Given the description of an element on the screen output the (x, y) to click on. 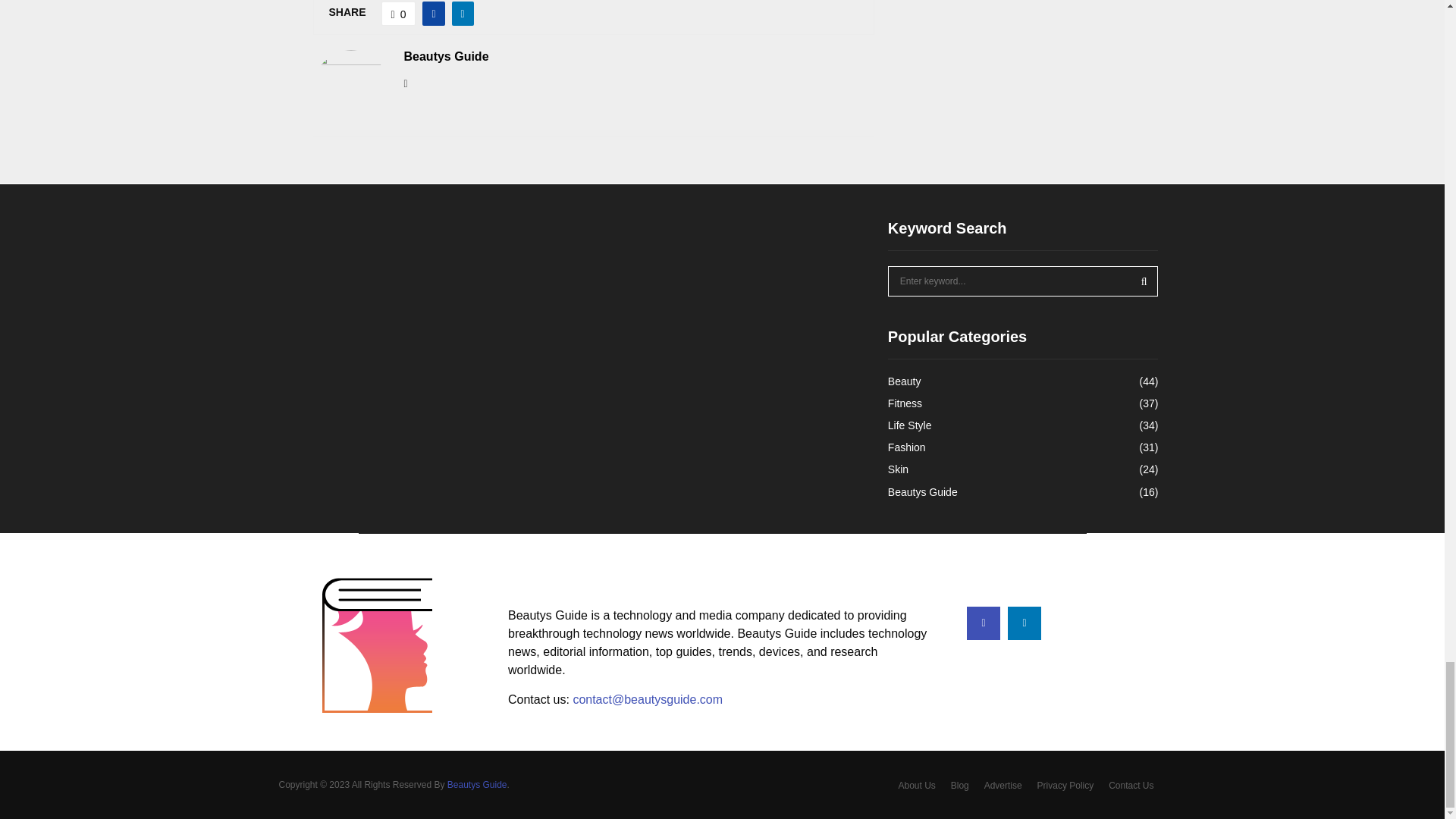
Like (398, 13)
